Given the description of an element on the screen output the (x, y) to click on. 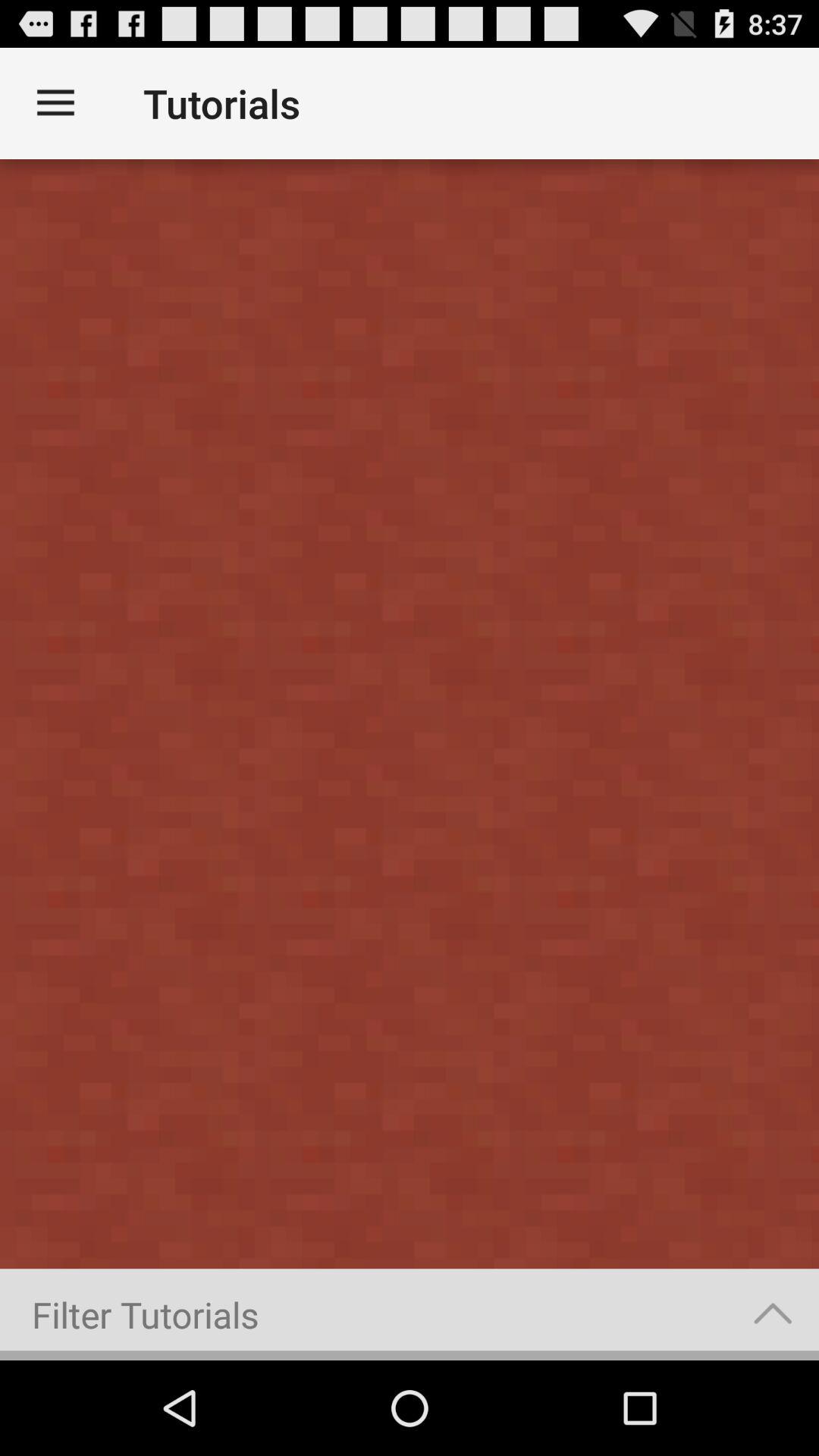
turn off icon at the center (409, 713)
